Given the description of an element on the screen output the (x, y) to click on. 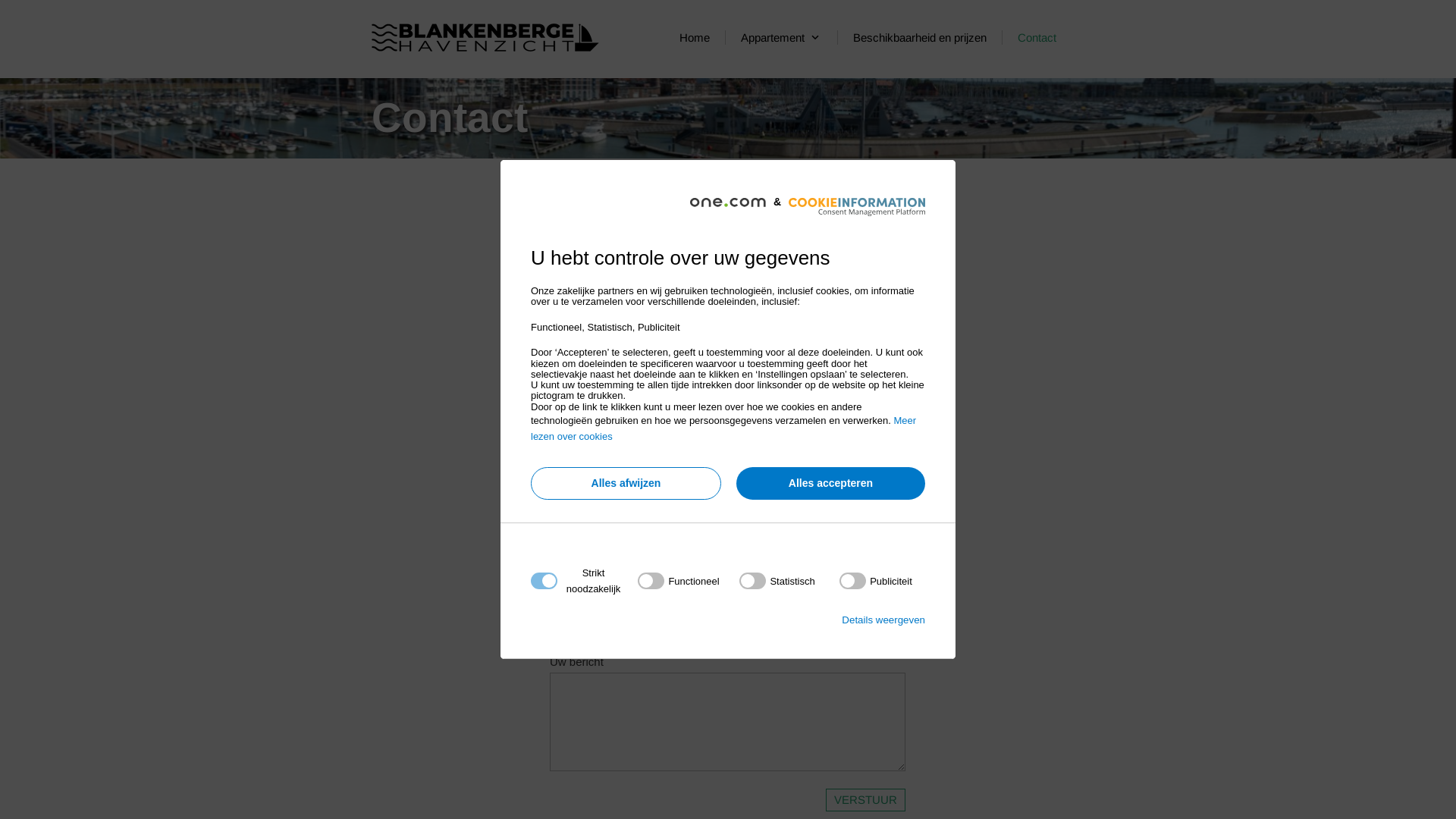
VERSTUUR Element type: text (865, 799)
on Element type: text (677, 580)
Alles afwijzen Element type: text (625, 483)
053 62 39 69 Element type: text (588, 286)
+32 472 95 38 60 Element type: text (600, 271)
on Element type: text (776, 580)
Strikt noodzakelijk Element type: text (723, 673)
Appartement Element type: text (781, 37)
Contact Element type: text (1037, 37)
on Element type: text (875, 580)
Functioneel Element type: text (723, 763)
Alles accepteren Element type: text (830, 483)
Home Element type: text (694, 37)
Details weergeven Element type: text (883, 619)
Beschikbaarheid en prijzen Element type: text (920, 37)
+32 476 39 21 54 Element type: text (732, 301)
Meer lezen over cookies Element type: text (723, 428)
eliane.desaedeleer@skynet.be Element type: text (749, 224)
